Given the description of an element on the screen output the (x, y) to click on. 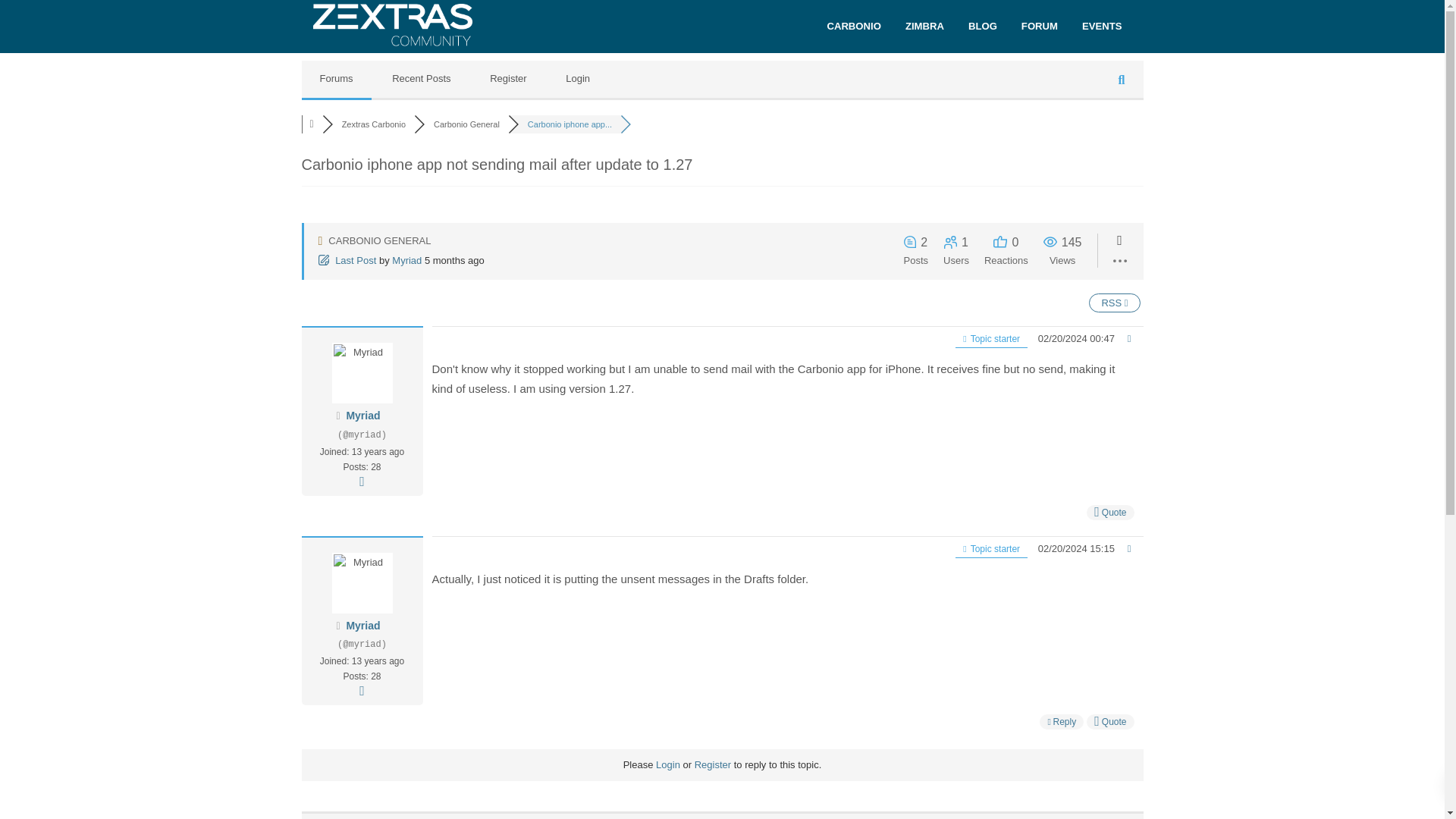
Recent Posts (421, 78)
Myriad (362, 373)
Myriad (363, 415)
Myriad (406, 260)
More (361, 481)
Login (667, 764)
CARBONIO (852, 26)
ZIMBRA (924, 26)
Myriad (363, 625)
Forums (310, 123)
Zextras Carbonio (374, 123)
Myriad (363, 415)
Myriad (406, 260)
Login (577, 78)
